Given the description of an element on the screen output the (x, y) to click on. 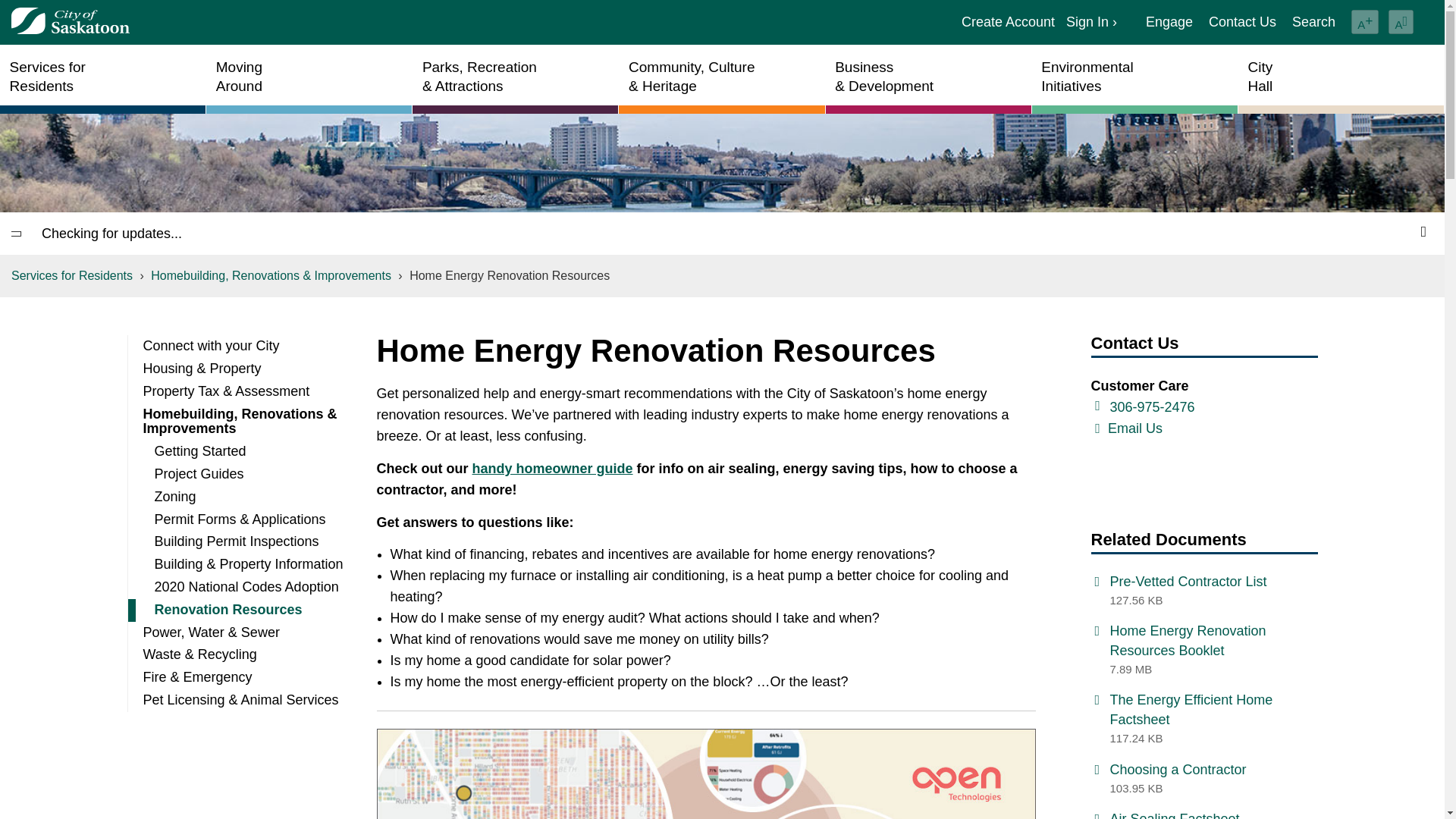
A (1364, 21)
A (1401, 21)
Home (70, 21)
Contact Us (1242, 22)
Engage (1169, 22)
Sign In (102, 79)
Search (1090, 22)
Create Account (1312, 22)
